Given the description of an element on the screen output the (x, y) to click on. 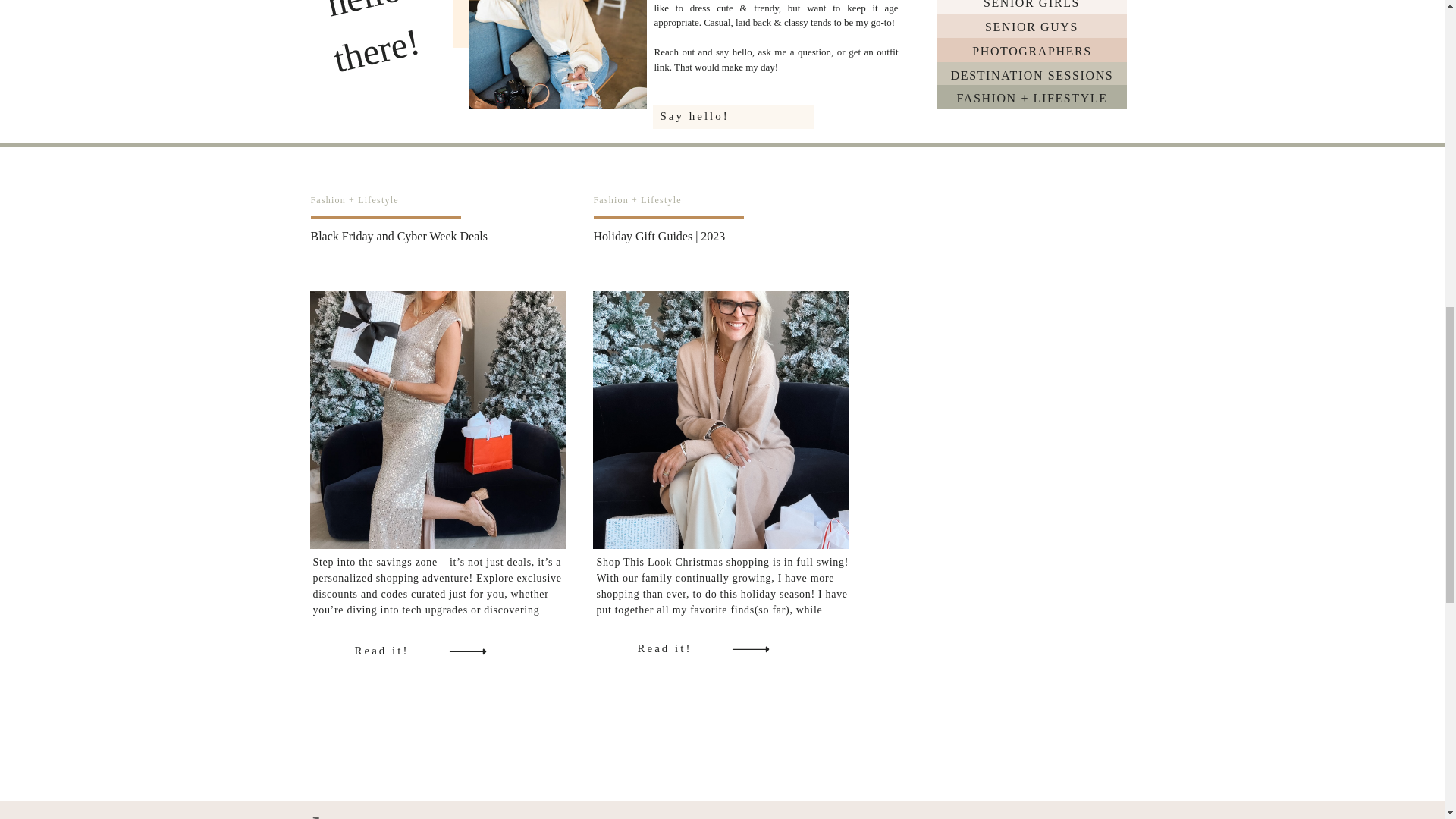
Black Friday and Cyber Week Deals (437, 419)
Read it! (681, 648)
SENIOR GIRLS (1031, 4)
Black Friday and Cyber Week Deals (400, 650)
PHOTOGRAPHERS (1031, 49)
Say hello! (741, 116)
SENIOR GUYS (1031, 25)
Black Friday and Cyber Week Deals (466, 650)
DESTINATION SESSIONS (1031, 73)
Black Friday and Cyber Week Deals (399, 236)
